Given the description of an element on the screen output the (x, y) to click on. 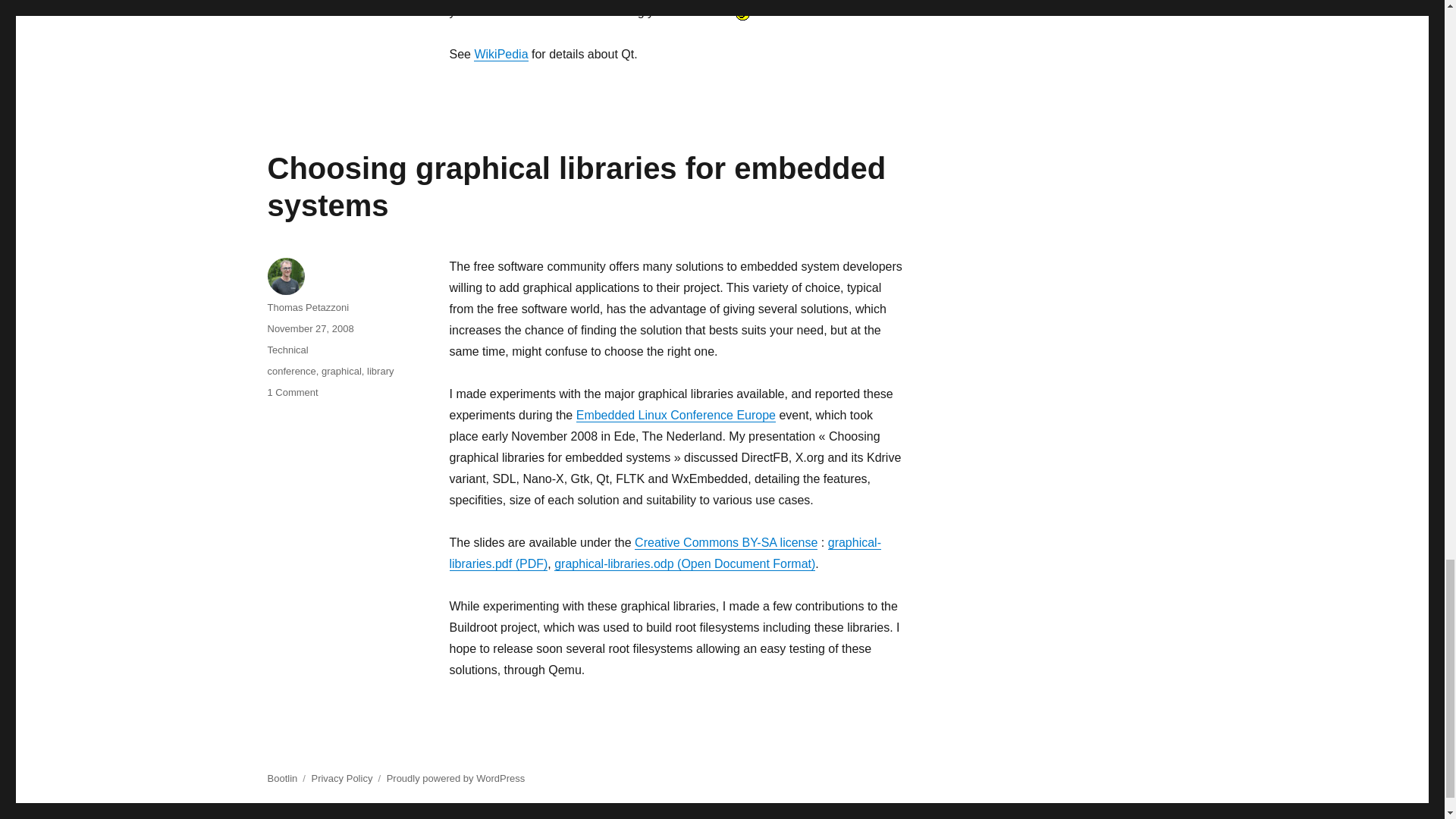
WikiPedia (500, 53)
Choosing graphical libraries for embedded systems (575, 186)
Embedded Linux Conference Europe (676, 414)
Creative Commons BY-SA license (725, 542)
